Given the description of an element on the screen output the (x, y) to click on. 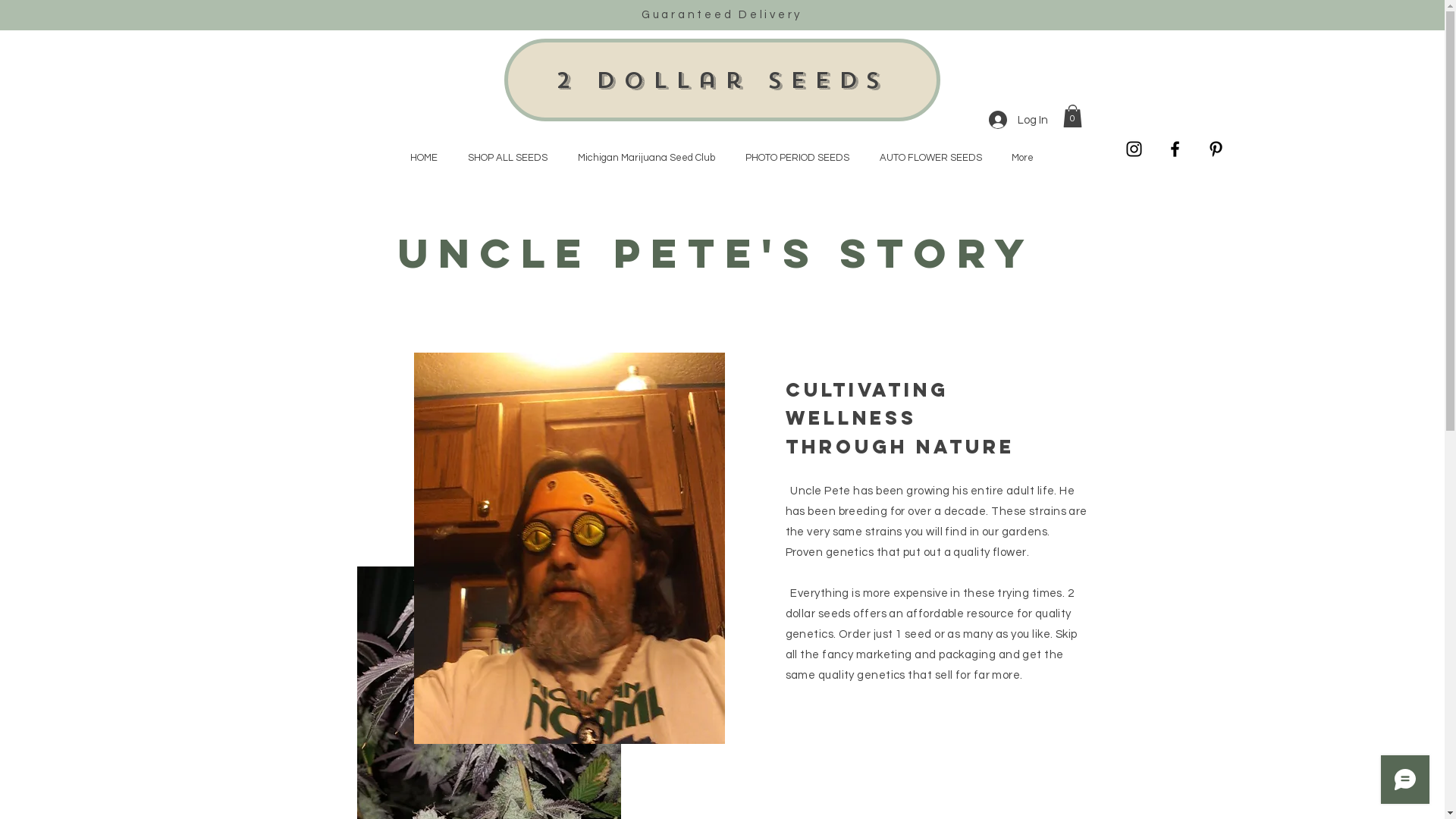
0 Element type: text (1072, 115)
Log In Element type: text (1018, 119)
2 Dollar Seeds Element type: text (721, 79)
PHOTO PERIOD SEEDS Element type: text (796, 157)
HOME Element type: text (422, 157)
AUTO FLOWER SEEDS Element type: text (930, 157)
Michigan Marijuana Seed Club Element type: text (646, 157)
SHOP ALL SEEDS Element type: text (506, 157)
